Given the description of an element on the screen output the (x, y) to click on. 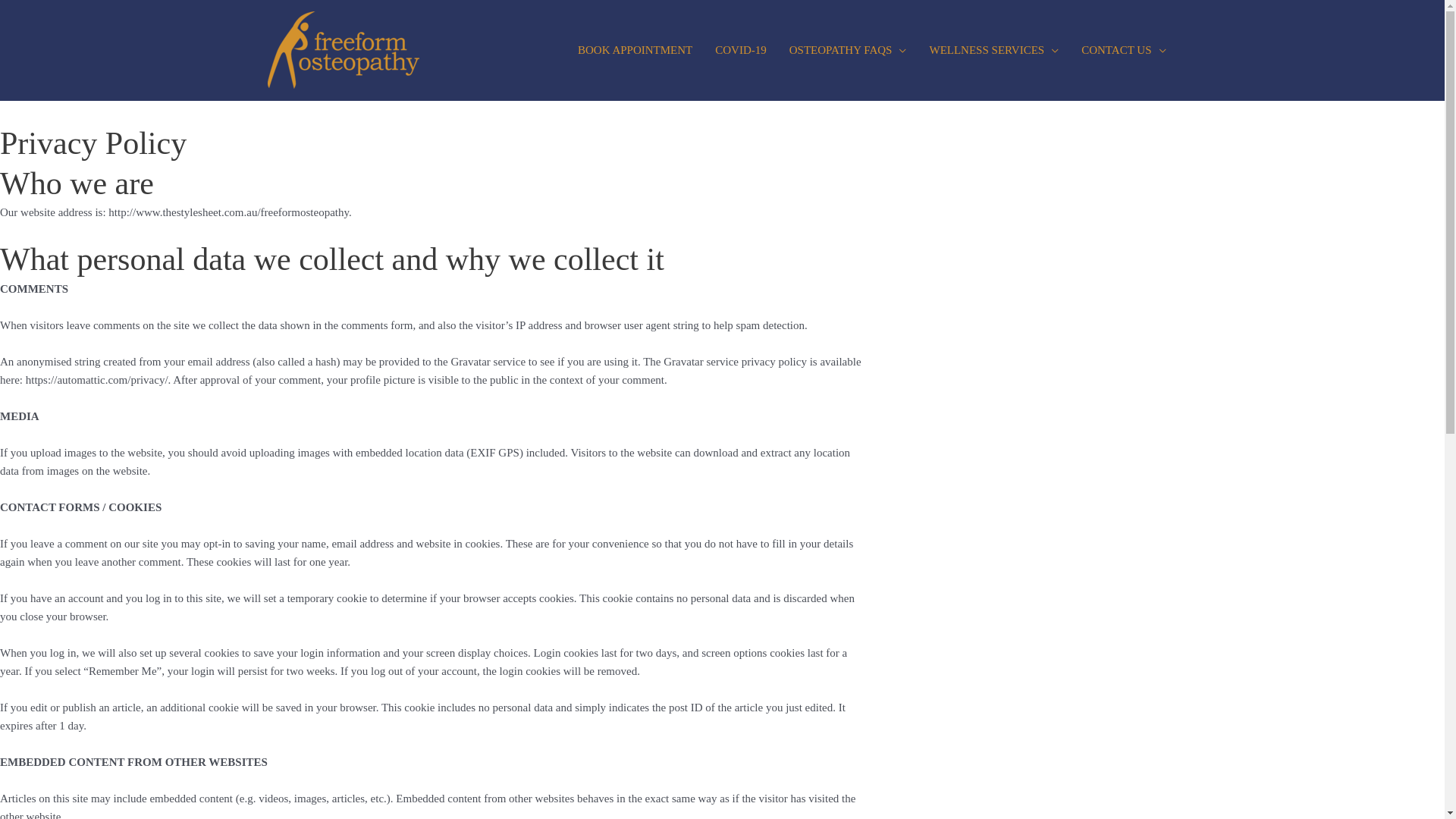
COVID-19 Element type: text (740, 49)
CONTACT US Element type: text (1123, 49)
WELLNESS SERVICES Element type: text (993, 49)
OSTEOPATHY FAQS Element type: text (848, 49)
BOOK APPOINTMENT Element type: text (634, 49)
